Given the description of an element on the screen output the (x, y) to click on. 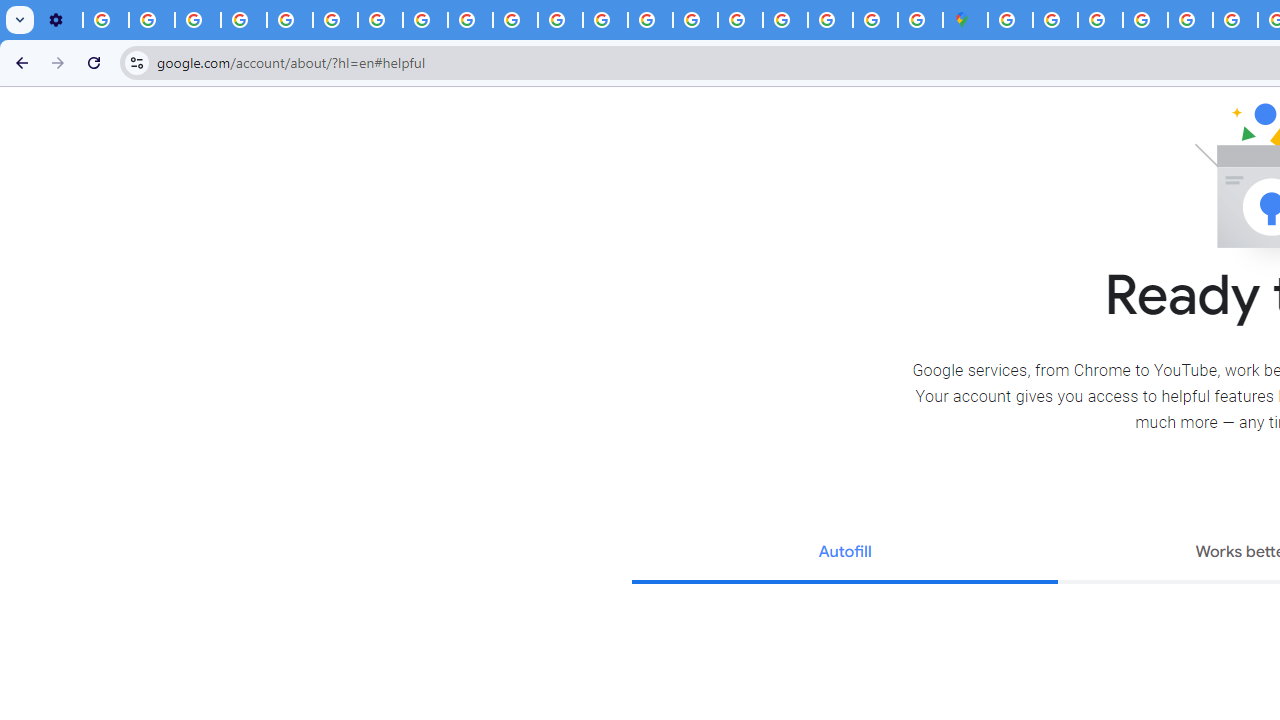
Privacy Help Center - Policies Help (605, 20)
https://scholar.google.com/ (559, 20)
Privacy Checkup (514, 20)
YouTube (335, 20)
Settings - Customize profile (60, 20)
Autofill (844, 553)
